Given the description of an element on the screen output the (x, y) to click on. 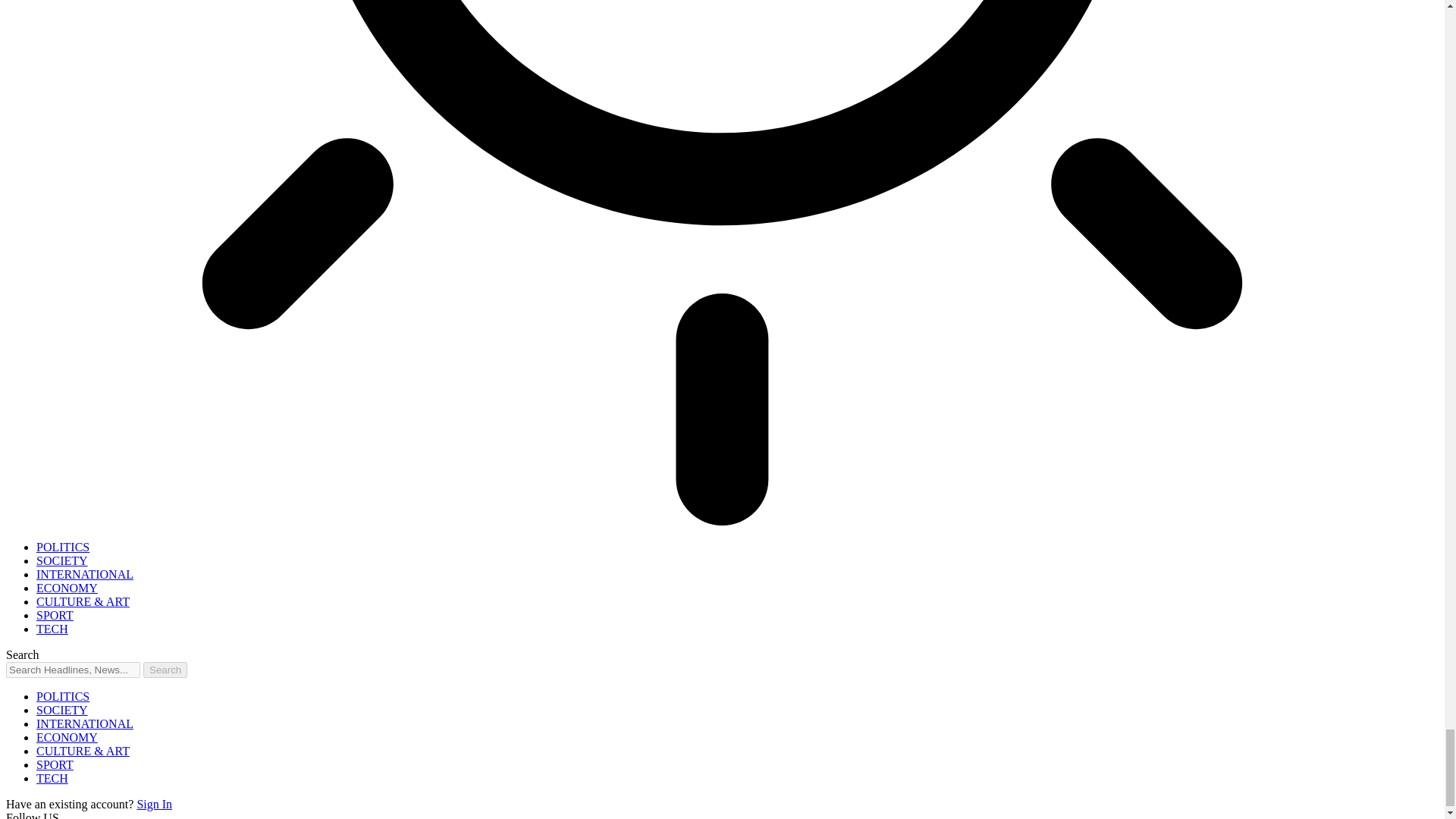
POLITICS (62, 546)
Search (164, 669)
SOCIETY (61, 560)
